Given the description of an element on the screen output the (x, y) to click on. 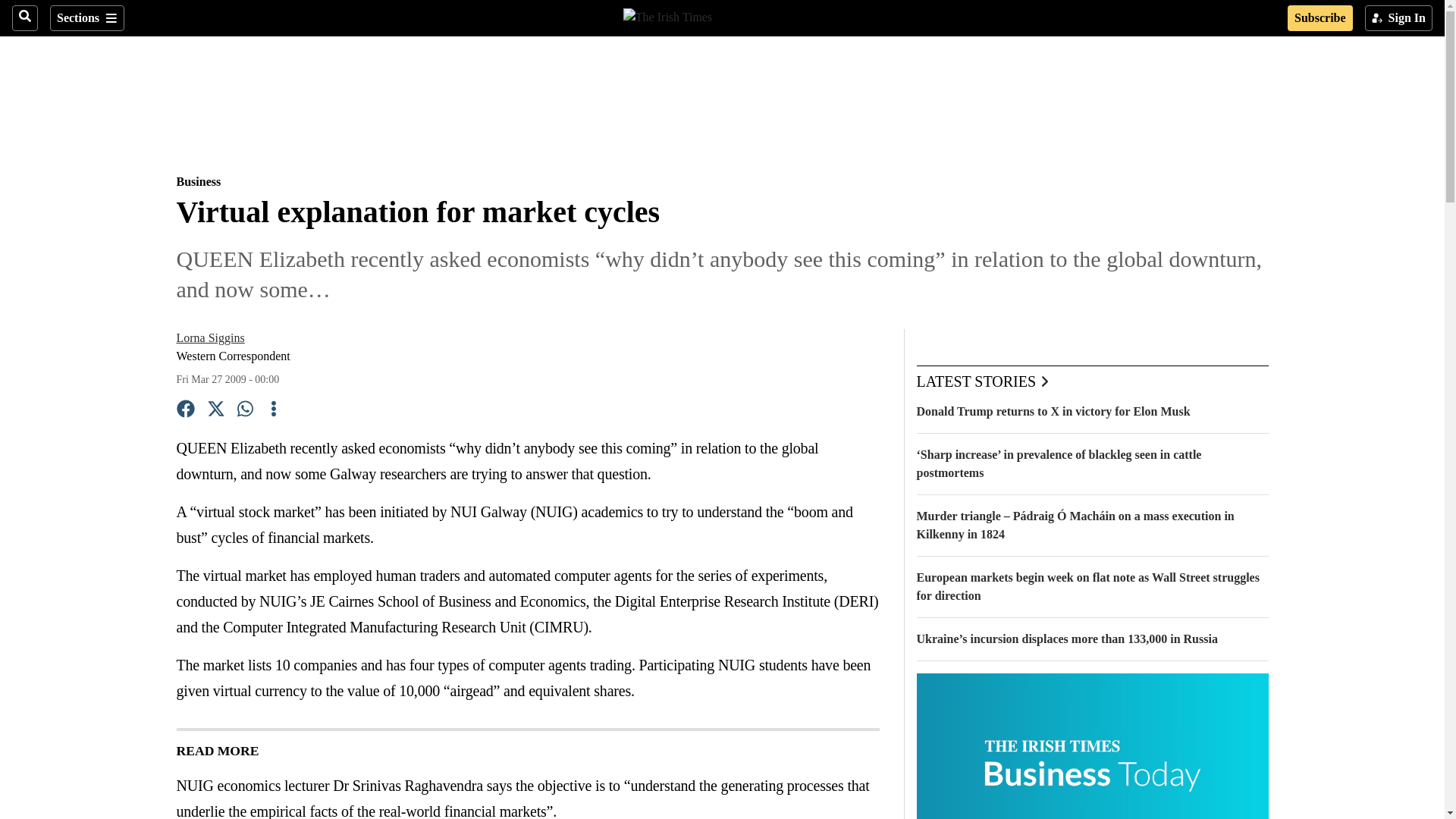
The Irish Times (667, 15)
Sections (86, 17)
Subscribe (1319, 17)
Sign In (1398, 17)
